Given the description of an element on the screen output the (x, y) to click on. 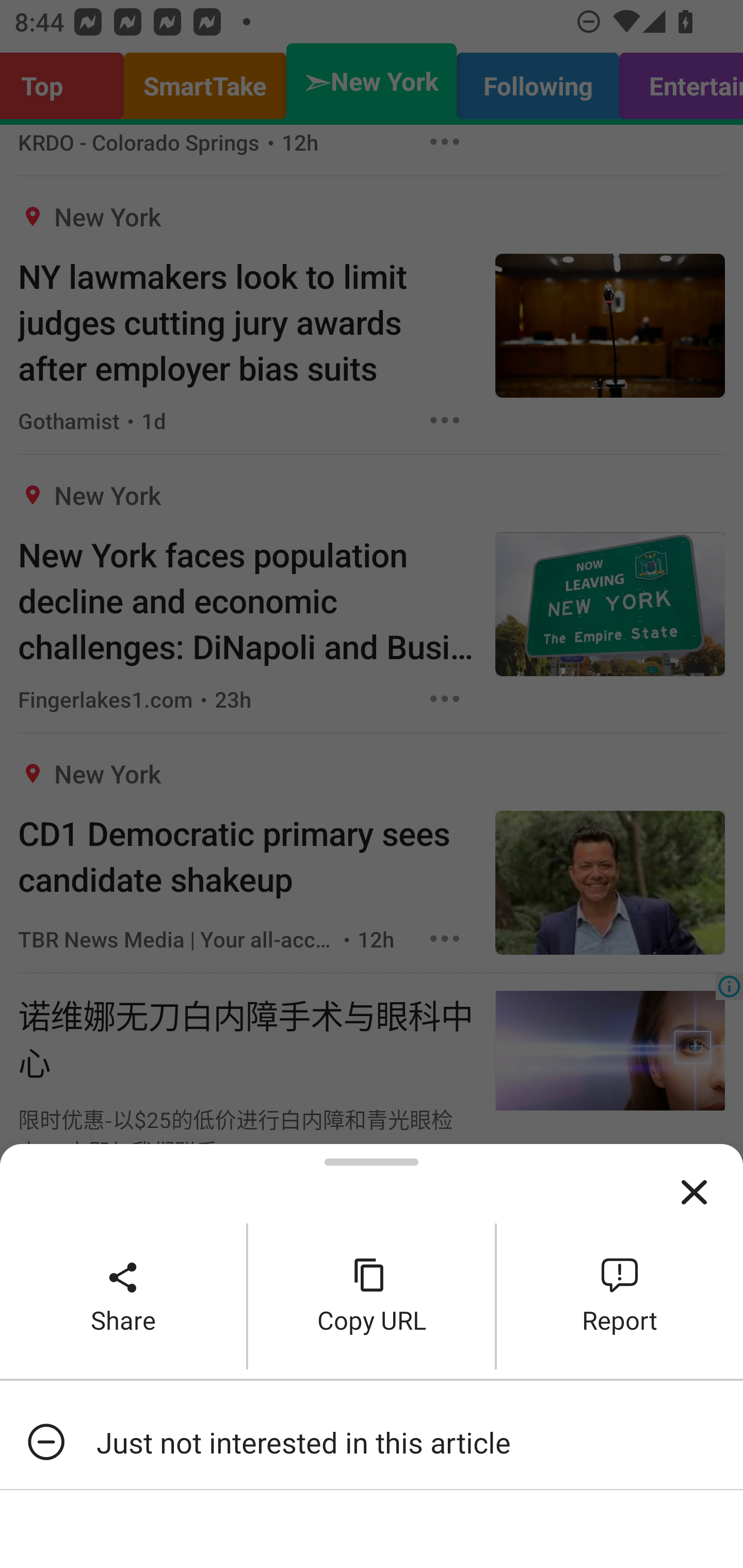
Close (694, 1192)
Share (122, 1295)
Copy URL (371, 1295)
Report (620, 1295)
Just not interested in this article (371, 1442)
